Given the description of an element on the screen output the (x, y) to click on. 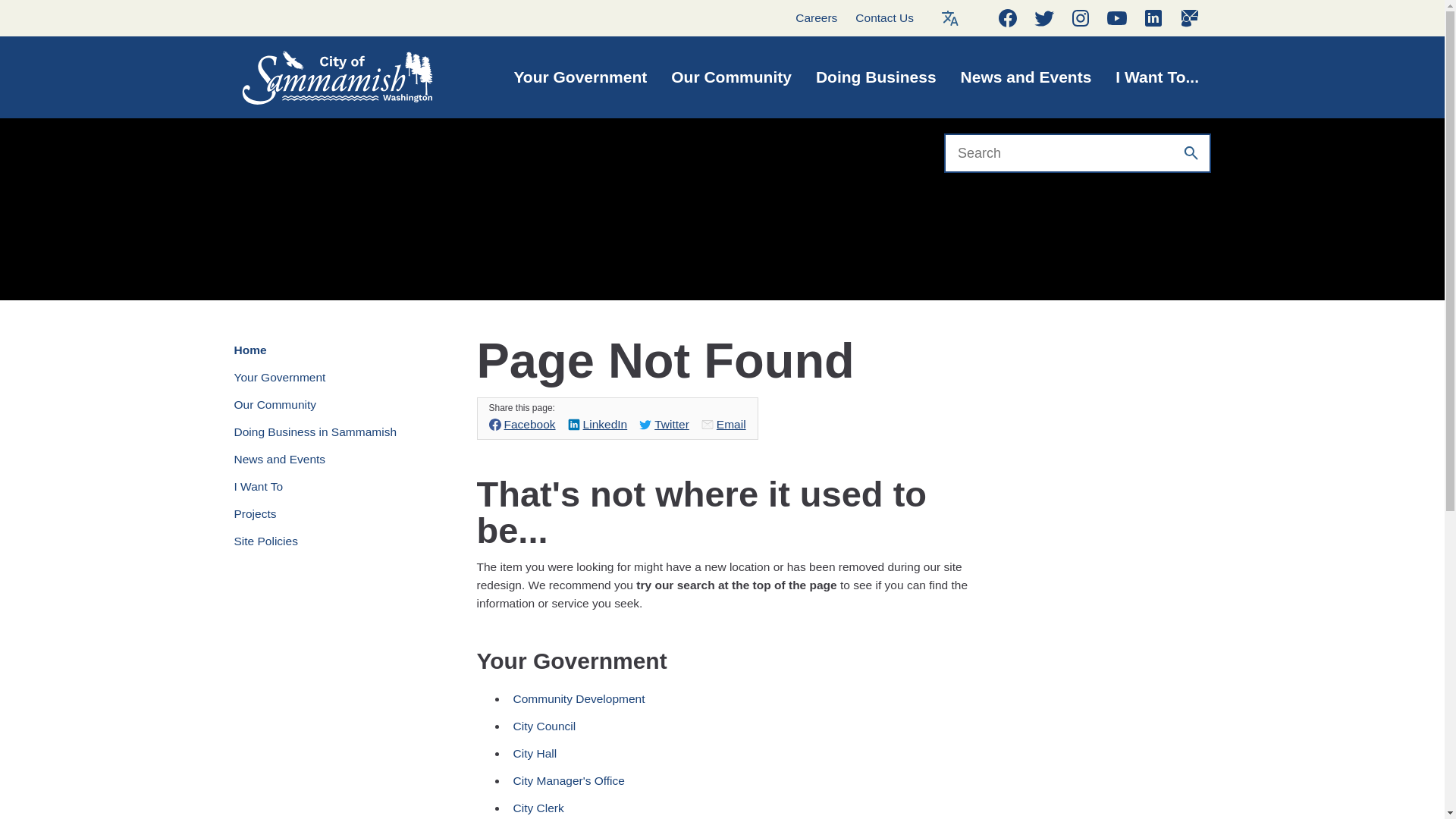
Careers (815, 18)
Our Community (731, 76)
Home Page (320, 76)
Search (1191, 153)
YouTube (1117, 18)
City Council (671, 726)
City Clerk (671, 806)
City Manager's Office (671, 780)
Community Development (671, 698)
